Given the description of an element on the screen output the (x, y) to click on. 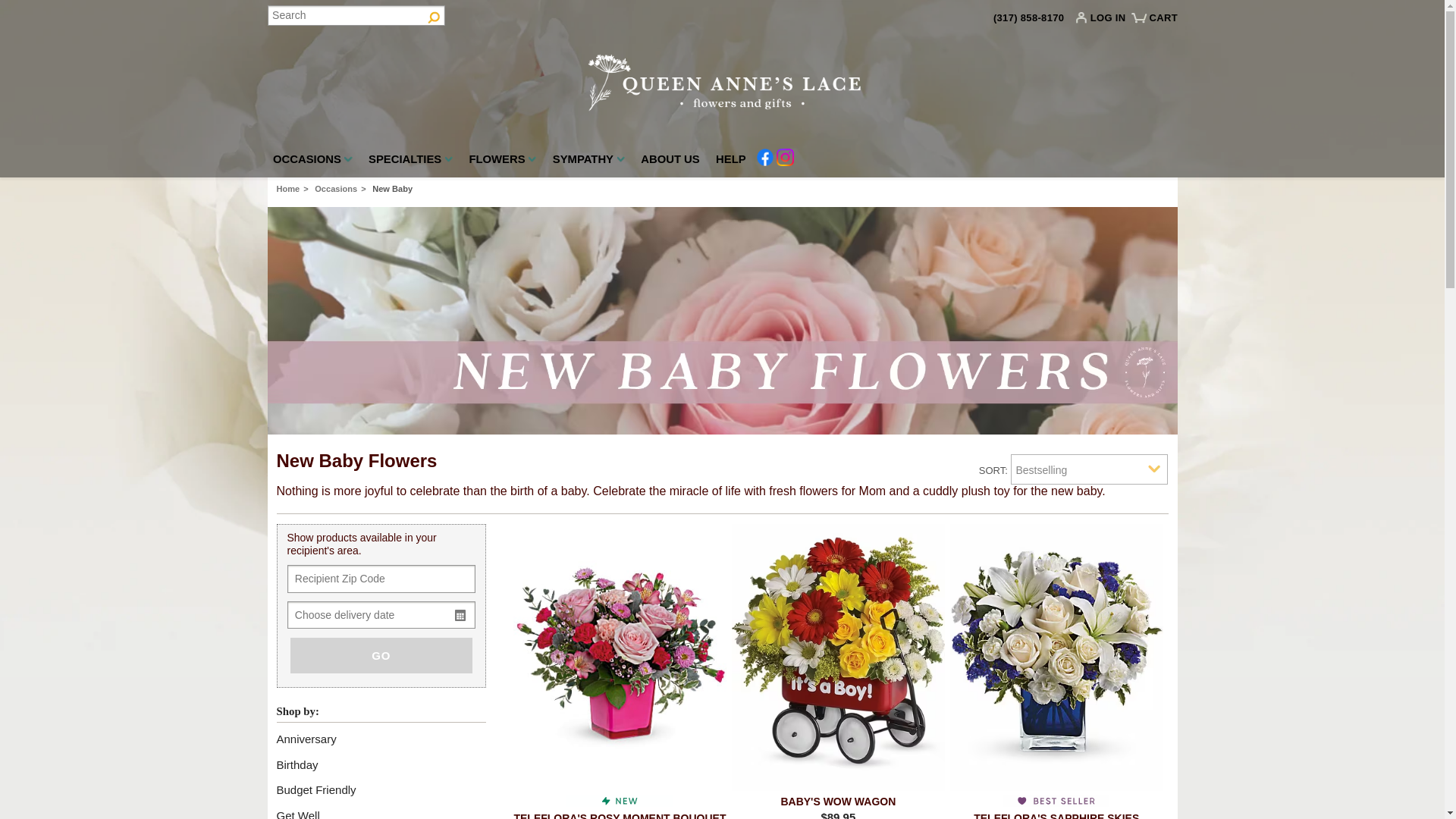
SYMPATHY (588, 161)
GO (380, 655)
LOG IN (1104, 21)
Go (434, 15)
OCCASIONS (312, 161)
SPECIALTIES (410, 161)
Search (355, 14)
log In (1104, 21)
FLOWERS (502, 161)
Sort By (1088, 469)
